Given the description of an element on the screen output the (x, y) to click on. 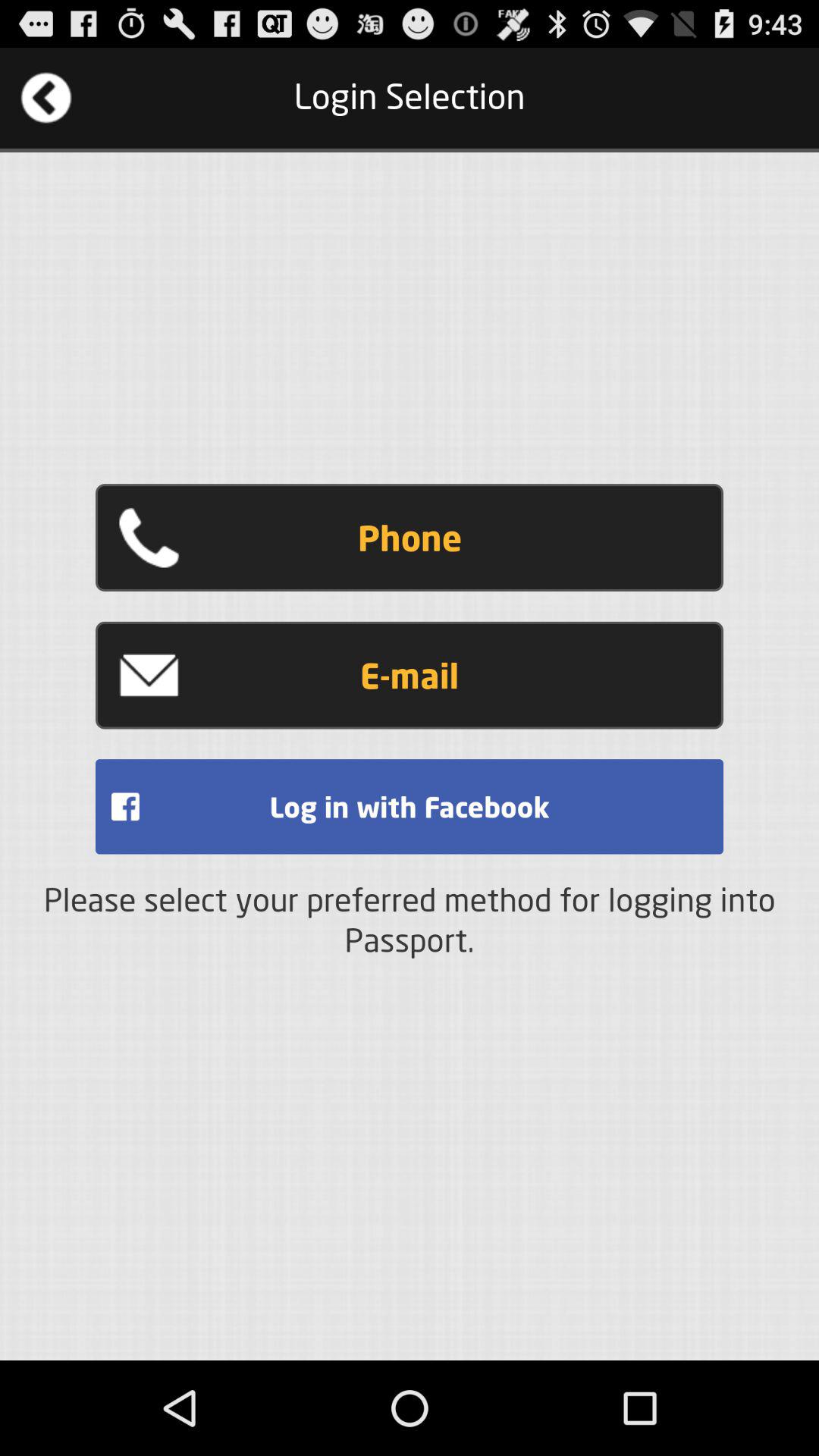
launch button below the phone item (409, 675)
